Given the description of an element on the screen output the (x, y) to click on. 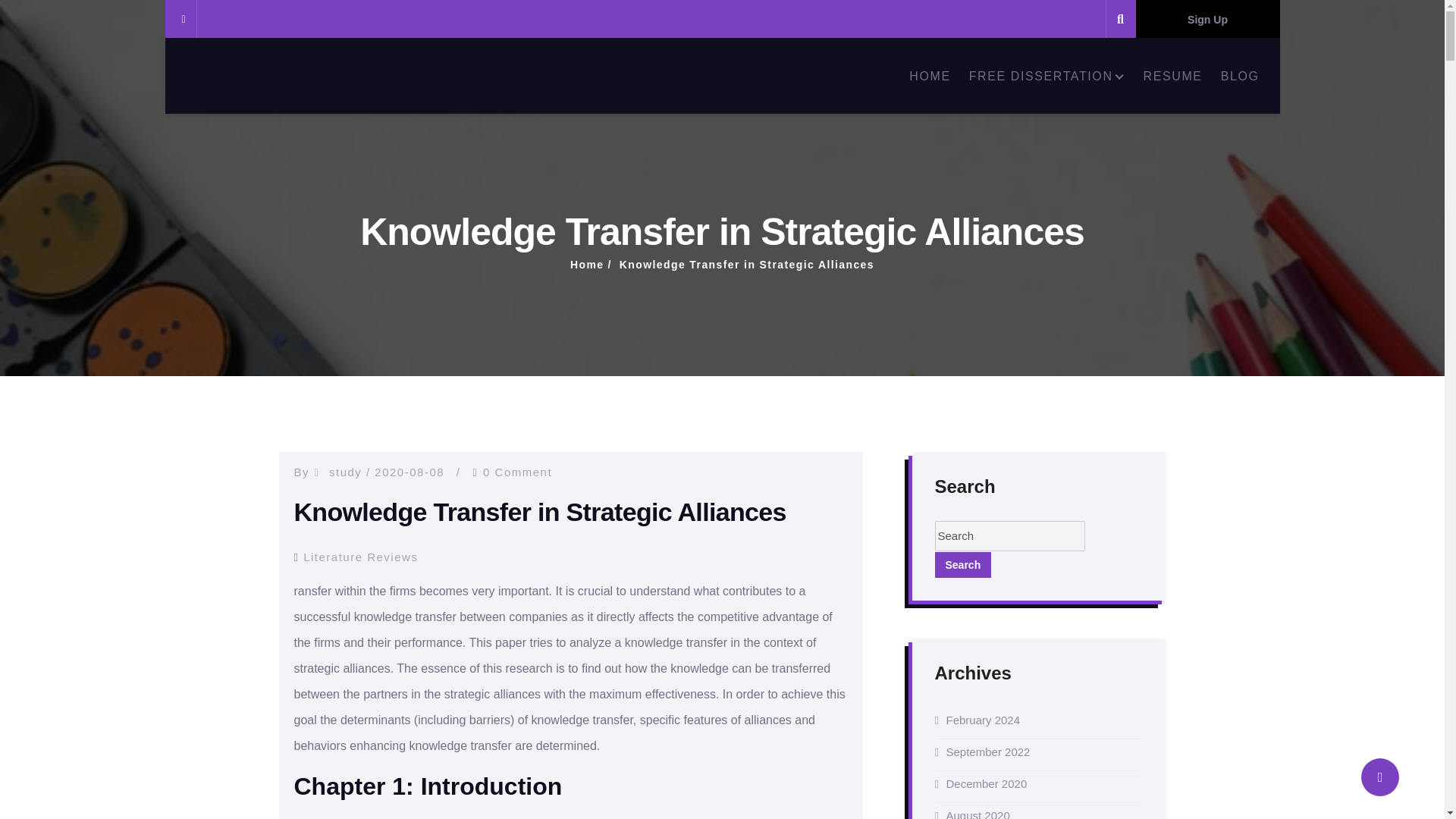
Home (587, 264)
FREE DISSERTATION (1047, 74)
Sign Up (1207, 18)
RESUME (1172, 74)
HOME (929, 74)
Search (962, 565)
study (345, 472)
Knowledge Transfer in Strategic Alliances (747, 264)
BLOG (1240, 74)
Search (962, 565)
